Given the description of an element on the screen output the (x, y) to click on. 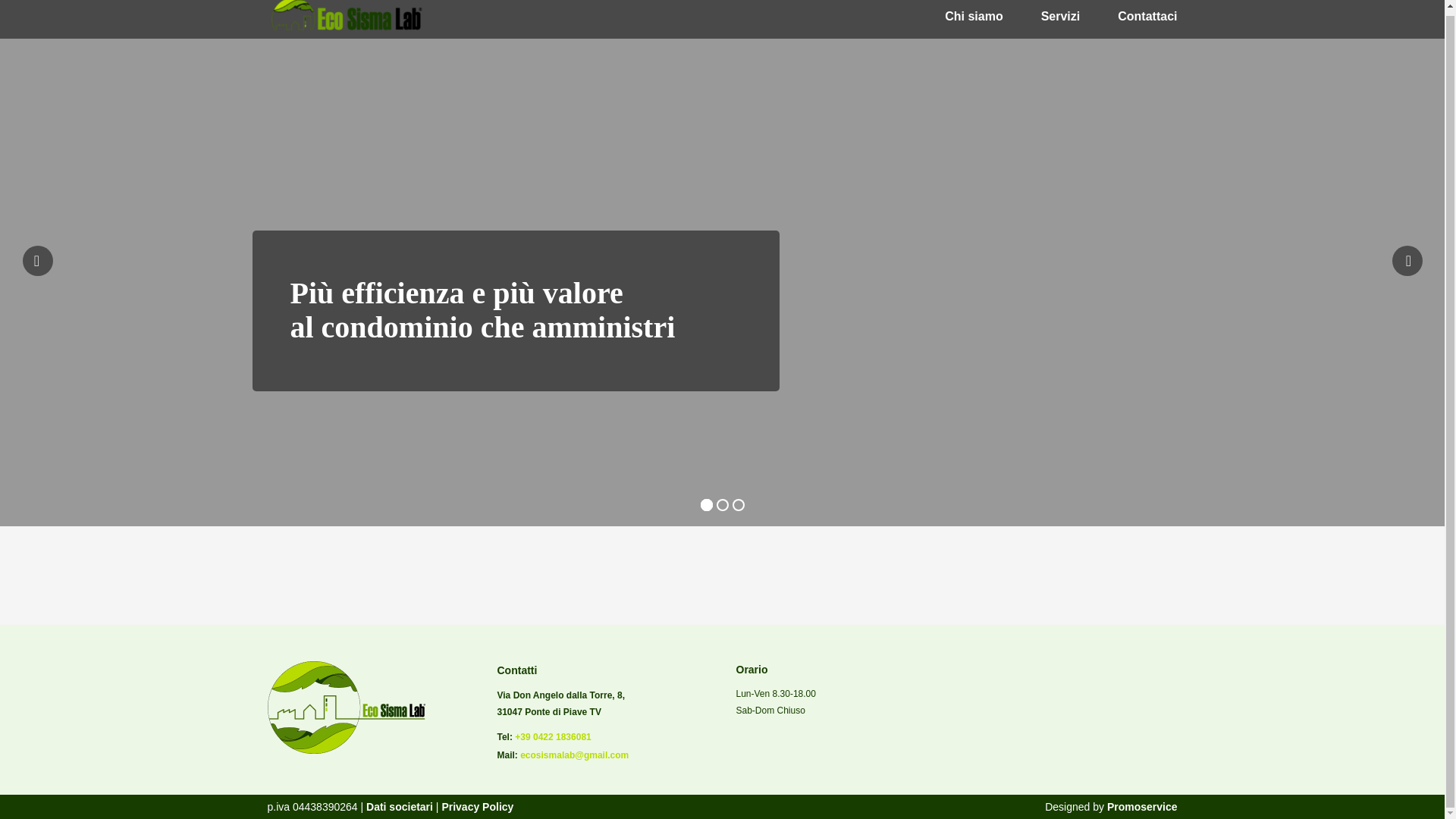
Dati societari (397, 806)
Contattaci (1147, 15)
Promoservice (1141, 806)
Servizi (1060, 15)
Chi siamo (973, 15)
Privacy Policy (477, 806)
